Given the description of an element on the screen output the (x, y) to click on. 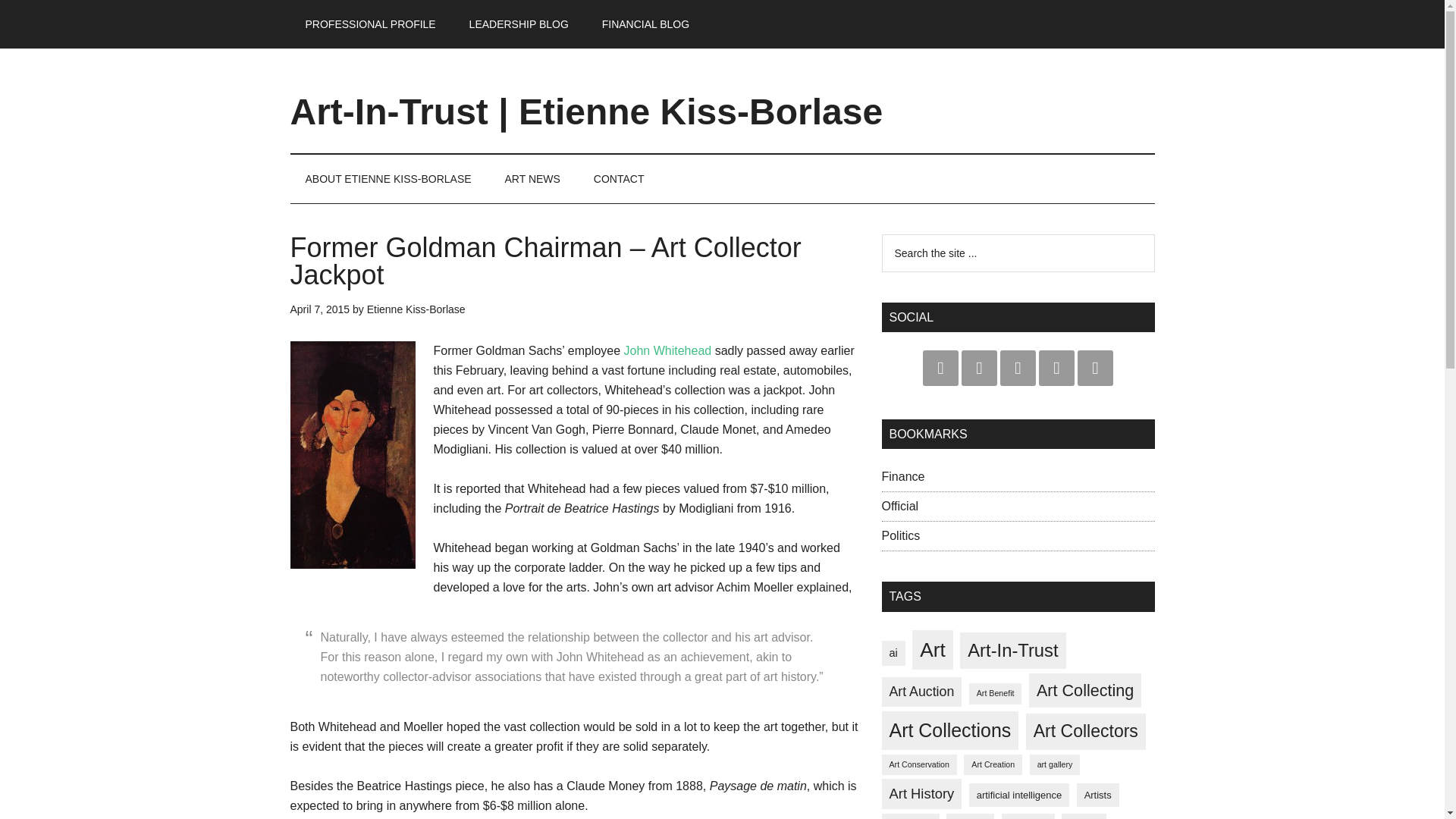
Art (932, 649)
FINANCIAL BLOG (645, 24)
Art Collecting (1085, 690)
Politics (900, 535)
Art History (920, 793)
Art Creation (992, 764)
auctioneer (1027, 816)
PROFESSIONAL PROFILE (369, 24)
Benefits (1083, 816)
Artists (1098, 794)
Art Benefit (995, 693)
ABOUT ETIENNE KISS-BORLASE (387, 178)
